Given the description of an element on the screen output the (x, y) to click on. 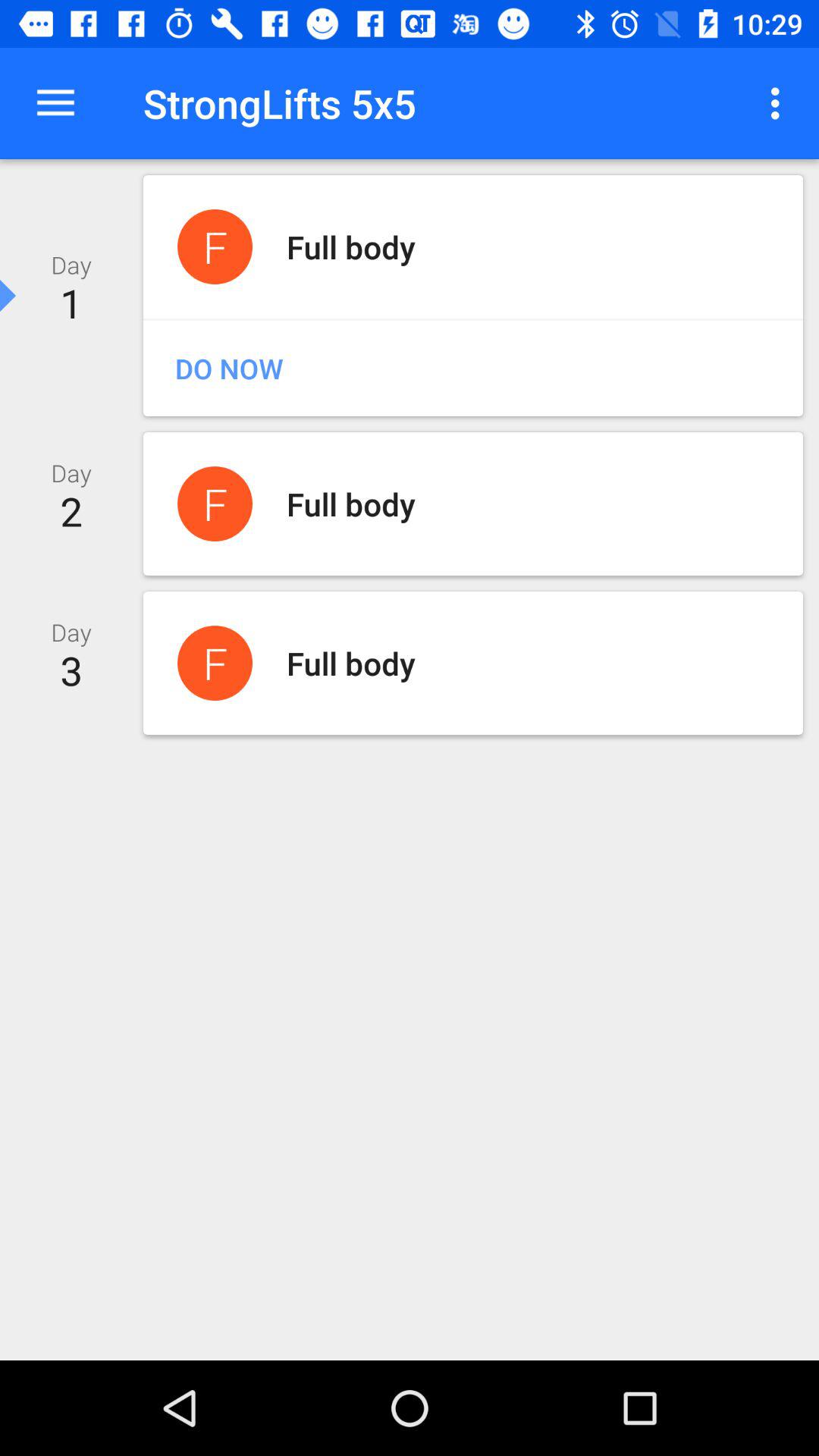
press the icon above the day
1 icon (55, 103)
